Given the description of an element on the screen output the (x, y) to click on. 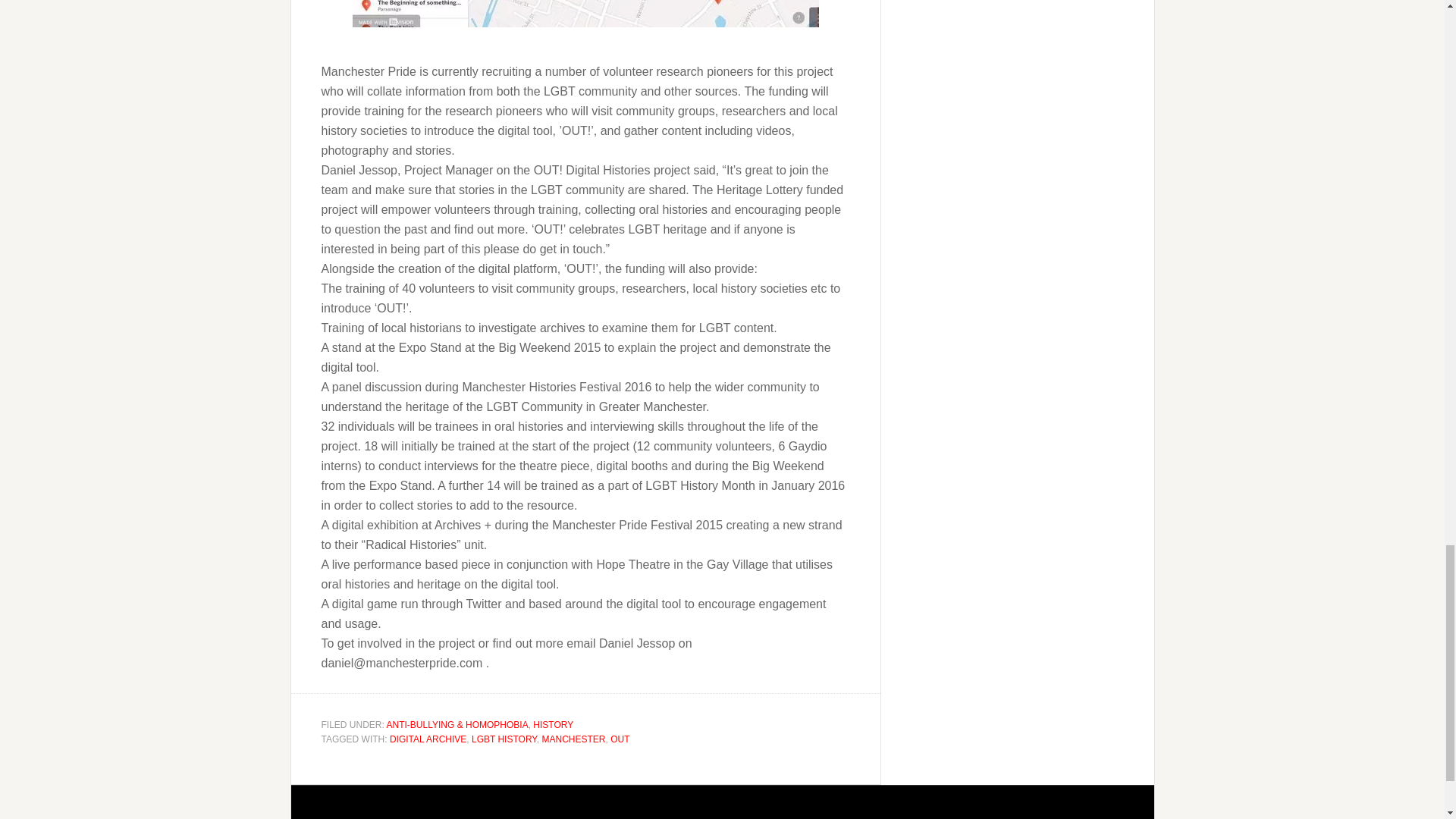
OUT (619, 738)
DIGITAL ARCHIVE (427, 738)
HISTORY (552, 724)
MANCHESTER (573, 738)
LGBT HISTORY (504, 738)
